Given the description of an element on the screen output the (x, y) to click on. 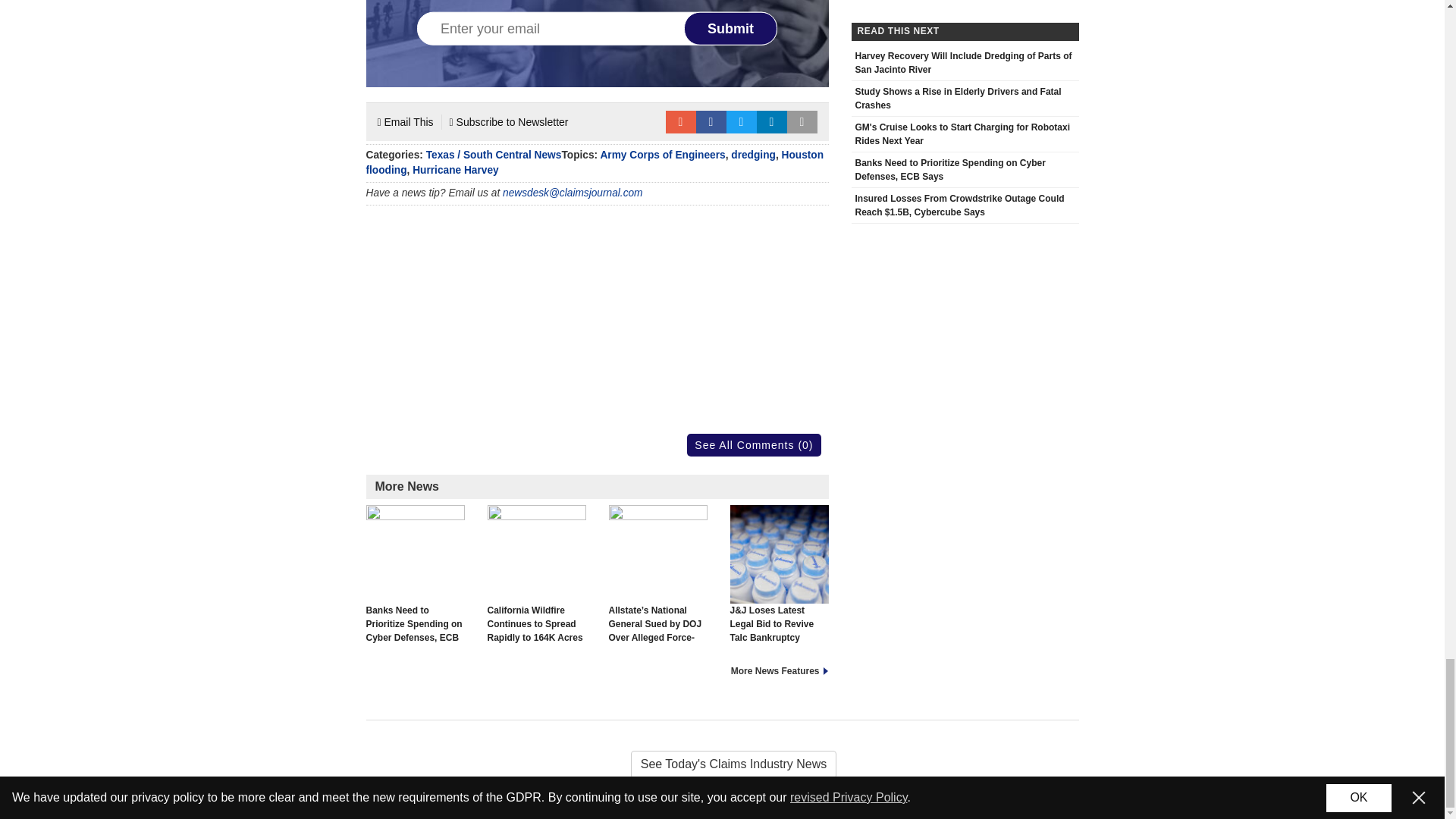
Share on Twitter. (741, 121)
Print Article (801, 121)
See Today's Claims Industry News (721, 764)
See Today's Claims Industry News (721, 764)
Share on LinkedIn. (772, 121)
Email to a friend (680, 121)
Post to Facebook. (710, 121)
